Given the description of an element on the screen output the (x, y) to click on. 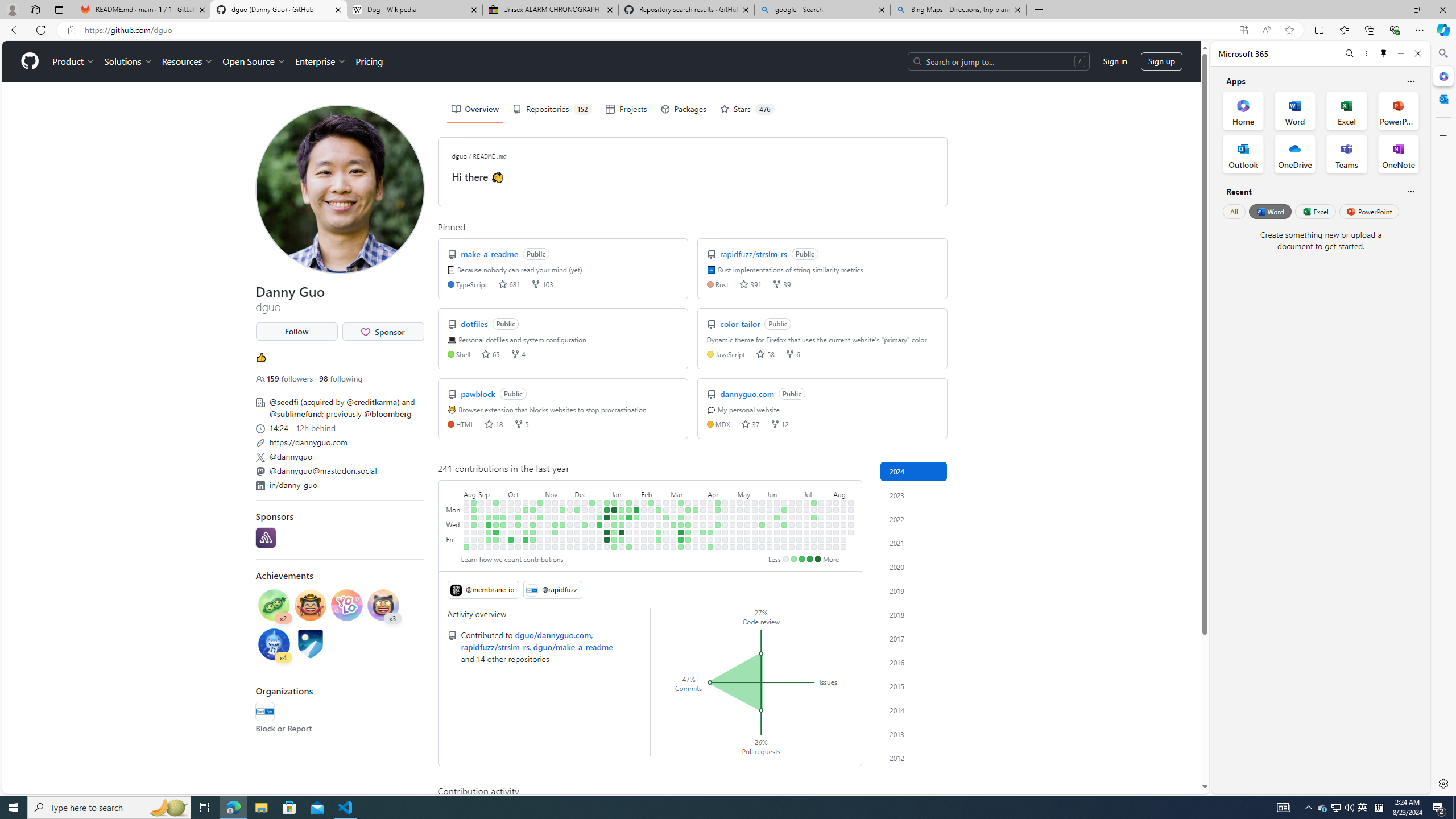
No contributions on March 7th. (674, 531)
Saturday (454, 546)
No contributions on June 6th. (770, 531)
No contributions on December 10th. (585, 502)
No contributions on April 7th. (710, 502)
4 contributions on September 13th. (489, 524)
No contributions on February 1st. (636, 531)
No contributions on March 8th. (674, 539)
Block or Report (282, 728)
No contributions on April 8th. (710, 509)
No contributions on March 26th. (695, 517)
1 contribution on February 22nd. (658, 531)
No contributions on August 11th. (843, 502)
No contributions on December 2nd. (569, 546)
